Given the description of an element on the screen output the (x, y) to click on. 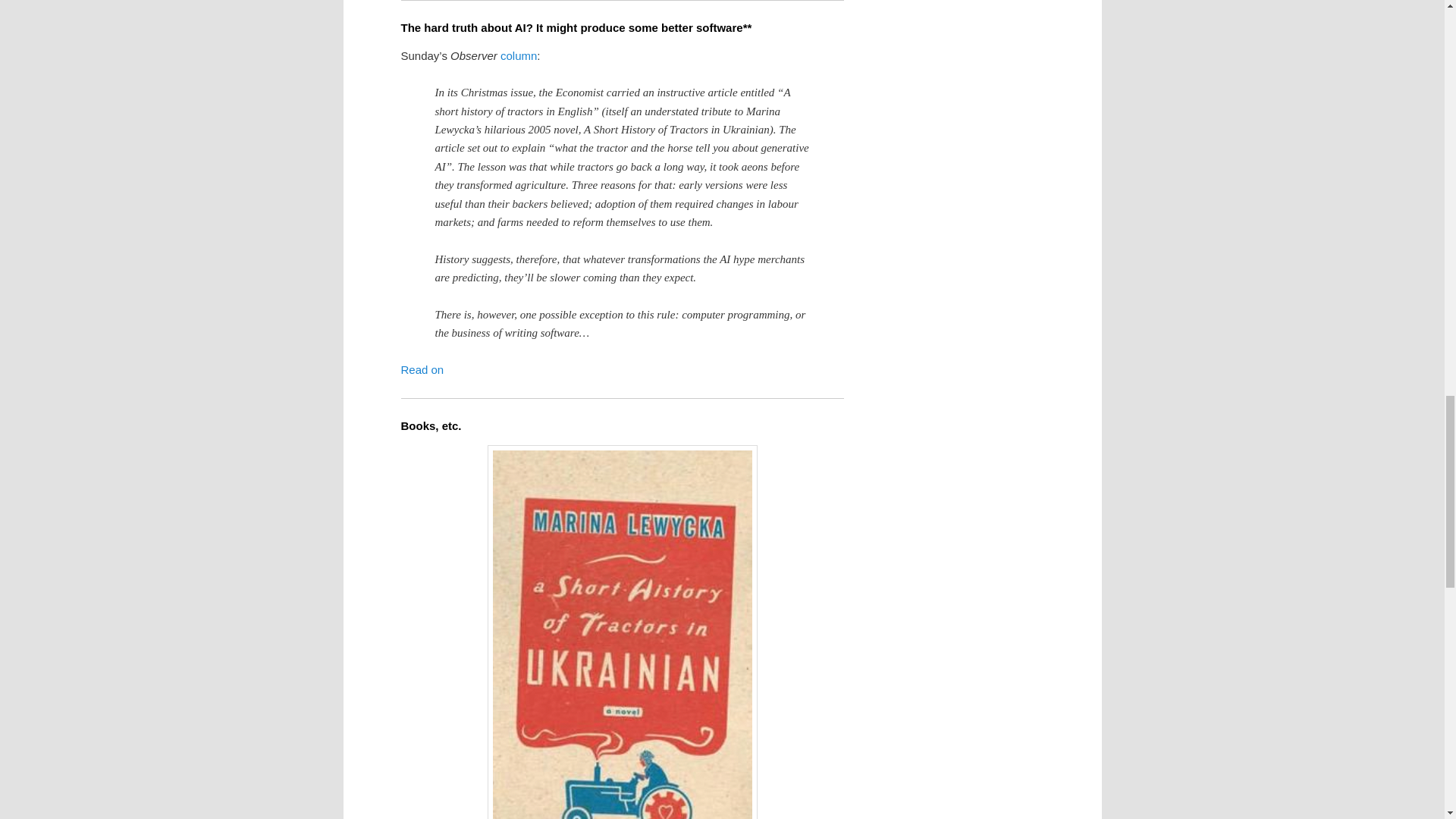
Read on (422, 369)
column (518, 54)
